Given the description of an element on the screen output the (x, y) to click on. 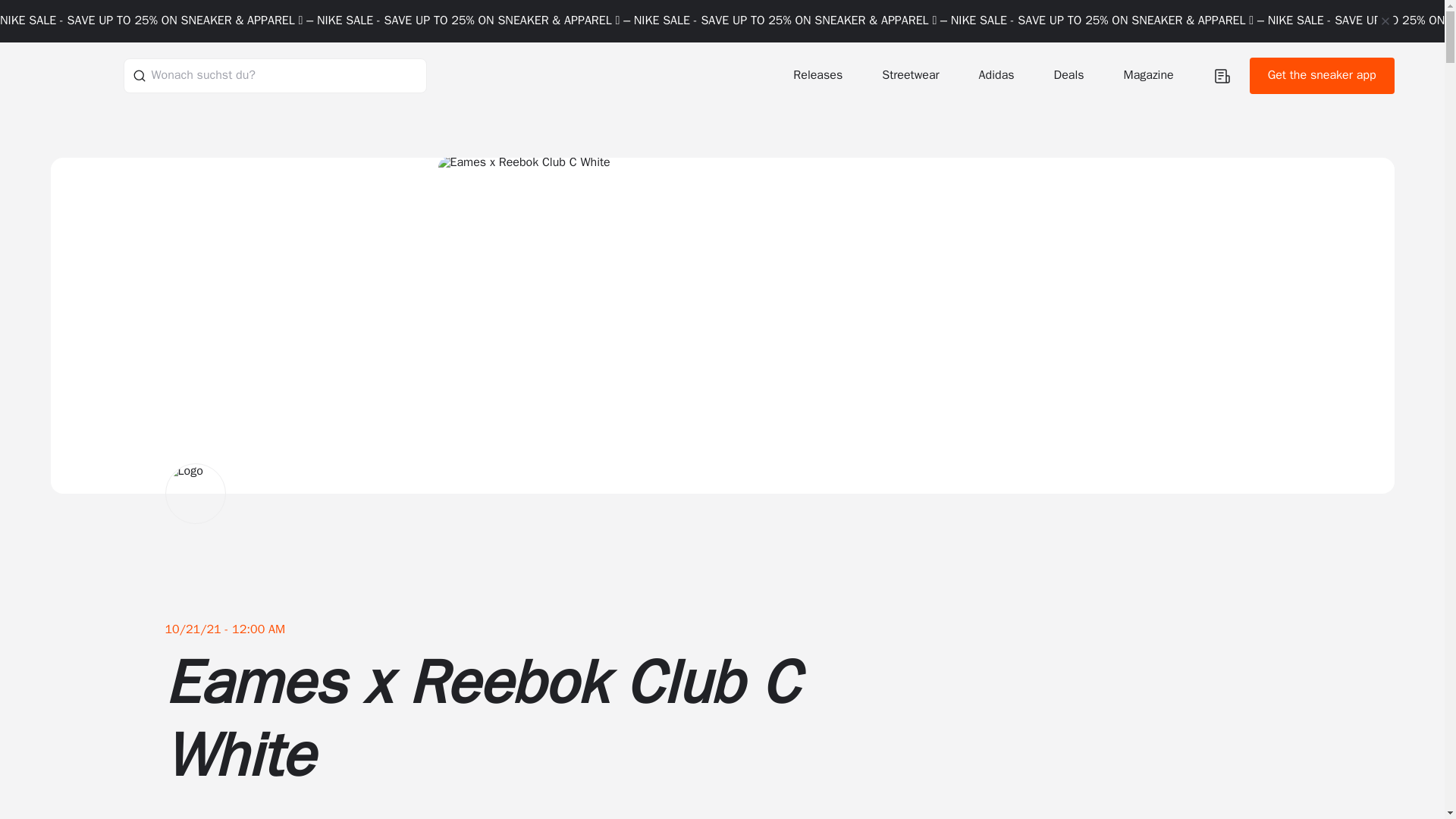
Adidas (997, 74)
Releases (819, 74)
Streetwear (912, 74)
Get the sneaker app (1321, 75)
Magazine (1150, 74)
Deals (1070, 74)
Wonach suchst du? (274, 75)
